Given the description of an element on the screen output the (x, y) to click on. 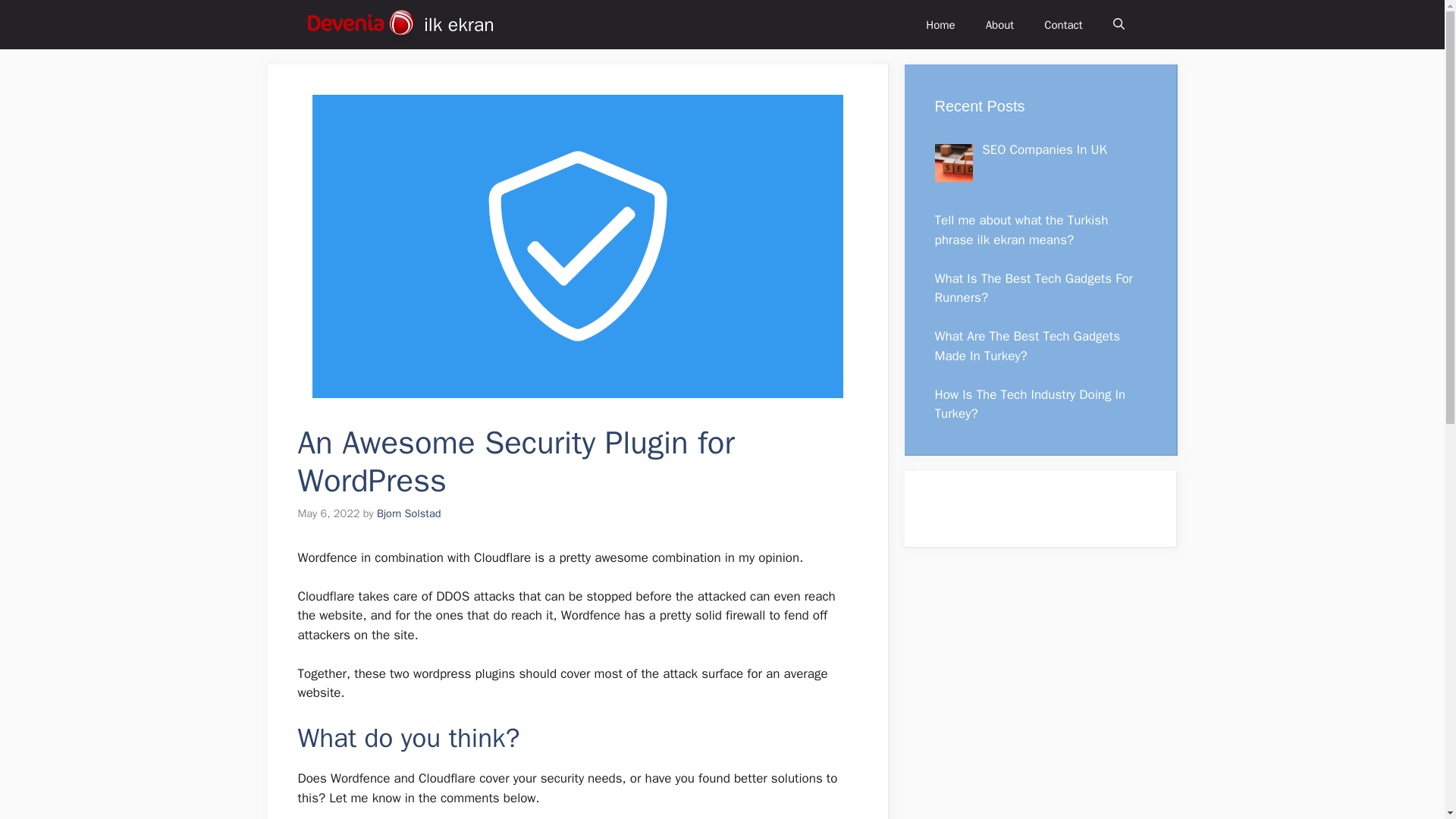
What Are The Best Tech Gadgets Made In Turkey? (1026, 345)
SEO Companies In UK (1043, 149)
Tell me about what the Turkish phrase ilk ekran means? (1021, 230)
View all posts by Bjorn Solstad (409, 513)
ilk ekran (359, 24)
How Is The Tech Industry Doing In Turkey? (1029, 404)
What Is The Best Tech Gadgets For Runners? (1033, 288)
ilk ekran (459, 24)
About (1000, 23)
Home (940, 23)
Contact (1063, 23)
Bjorn Solstad (409, 513)
